Given the description of an element on the screen output the (x, y) to click on. 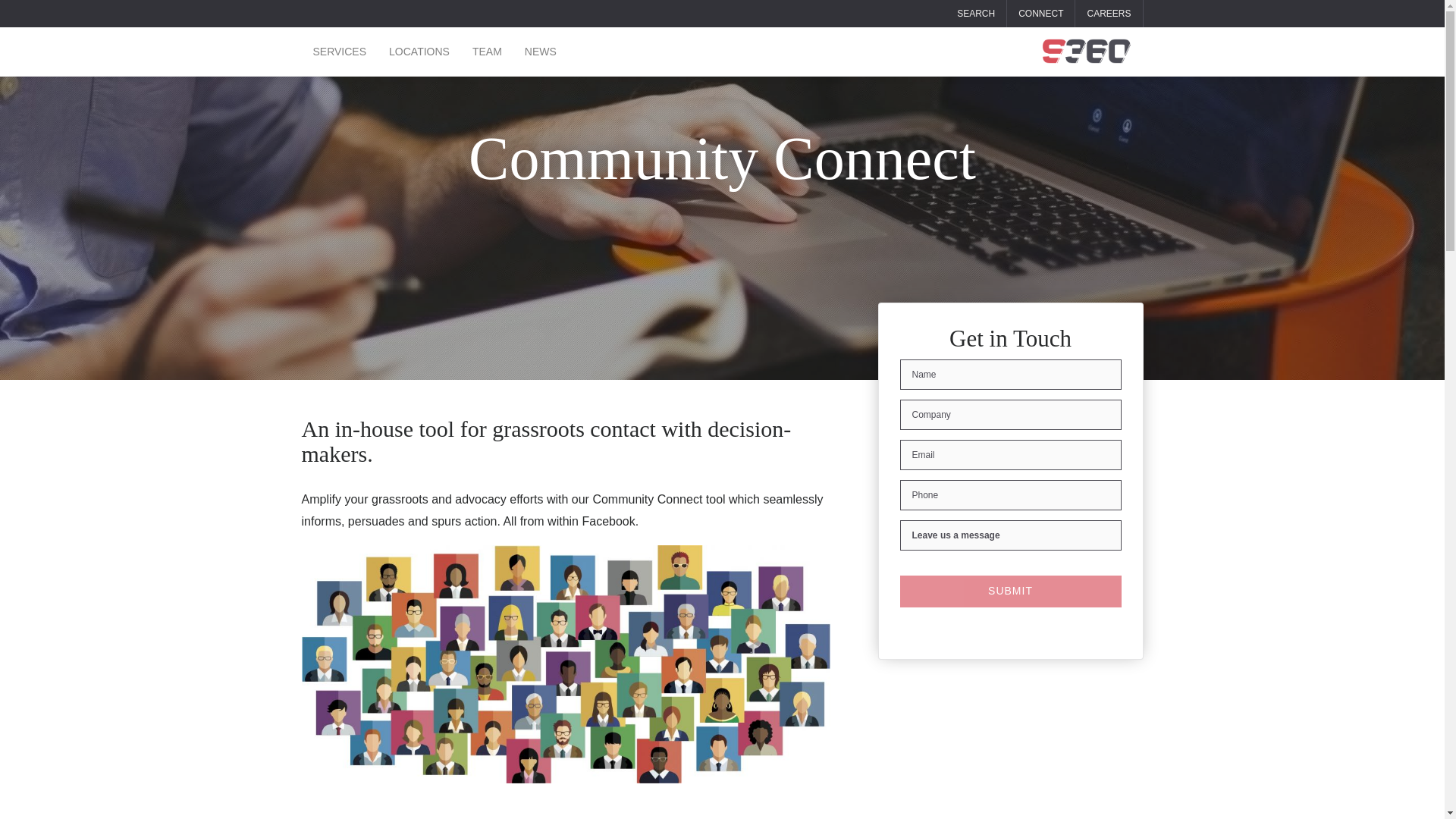
SEARCH (975, 13)
SERVICES (339, 51)
NEWS (540, 51)
Submit (1010, 591)
CONNECT (1039, 13)
CAREERS (1108, 13)
Leave us a message (1010, 535)
LOCATIONS (418, 51)
